Given the description of an element on the screen output the (x, y) to click on. 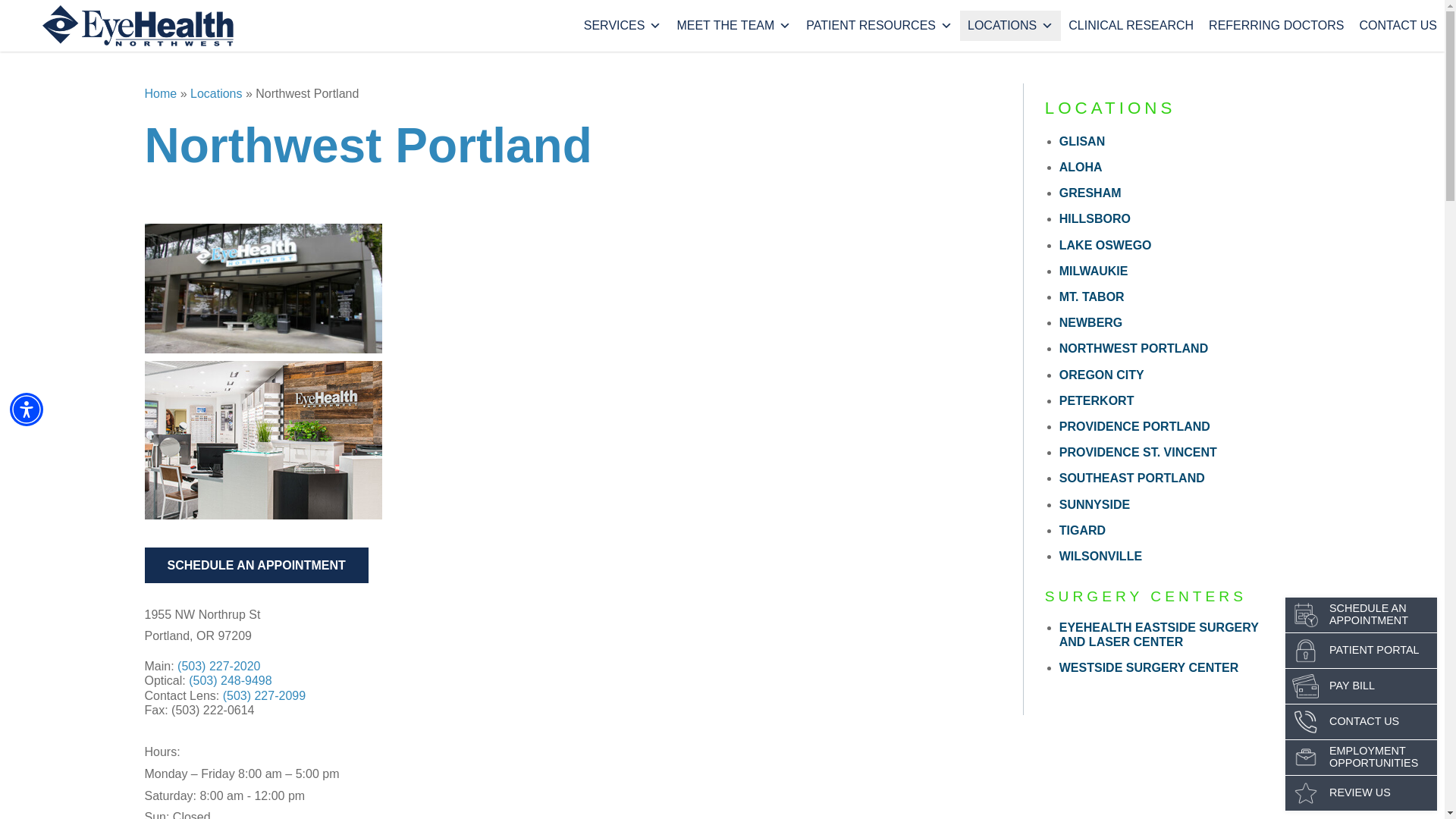
Services (622, 25)
SERVICES (622, 25)
PATIENT RESOURCES (878, 25)
LOCATIONS (1010, 25)
MEET THE TEAM (732, 25)
Accessibility Menu (26, 409)
